Given the description of an element on the screen output the (x, y) to click on. 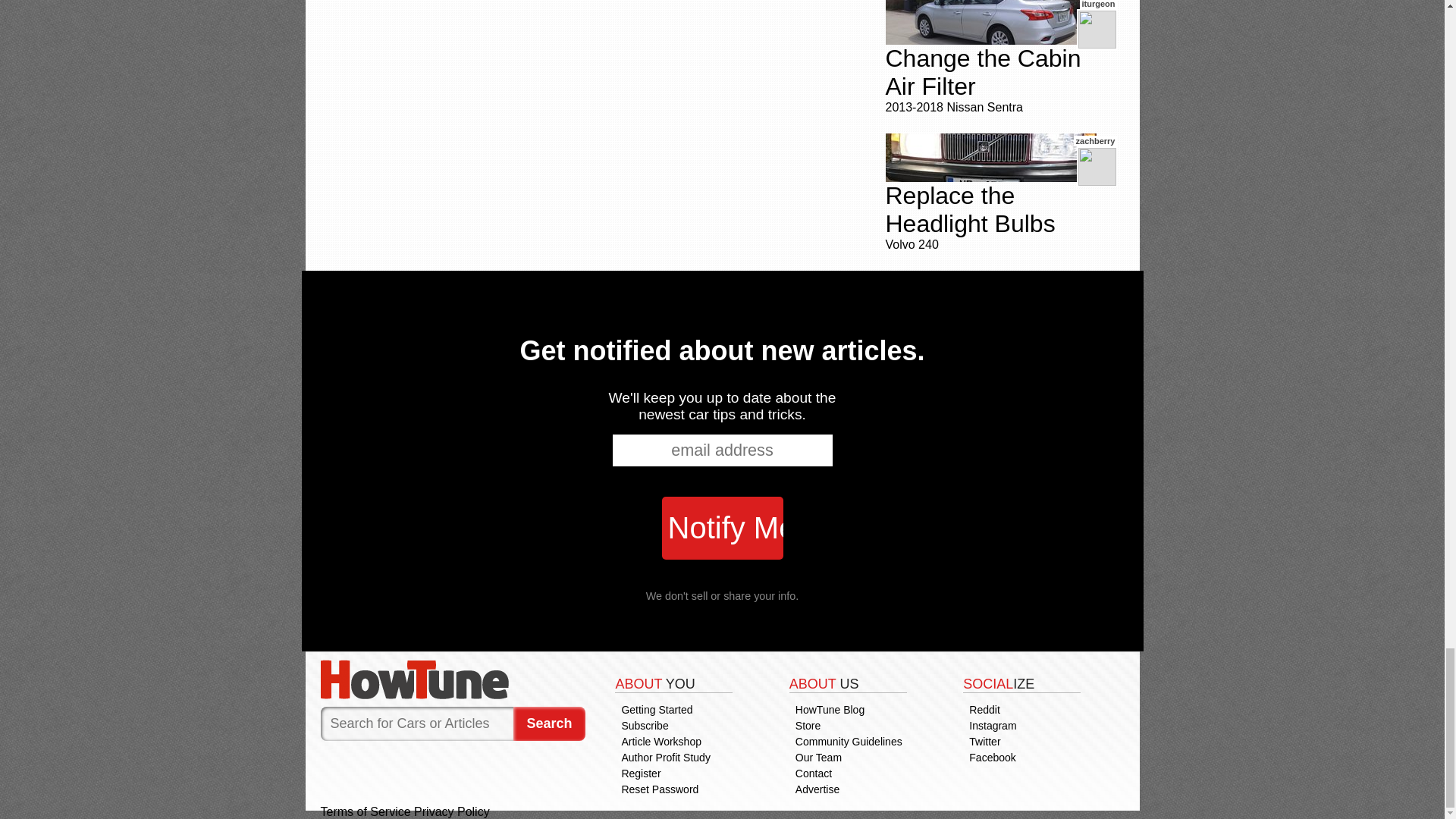
Home (452, 679)
Notify Me (722, 527)
Search (549, 723)
